Given the description of an element on the screen output the (x, y) to click on. 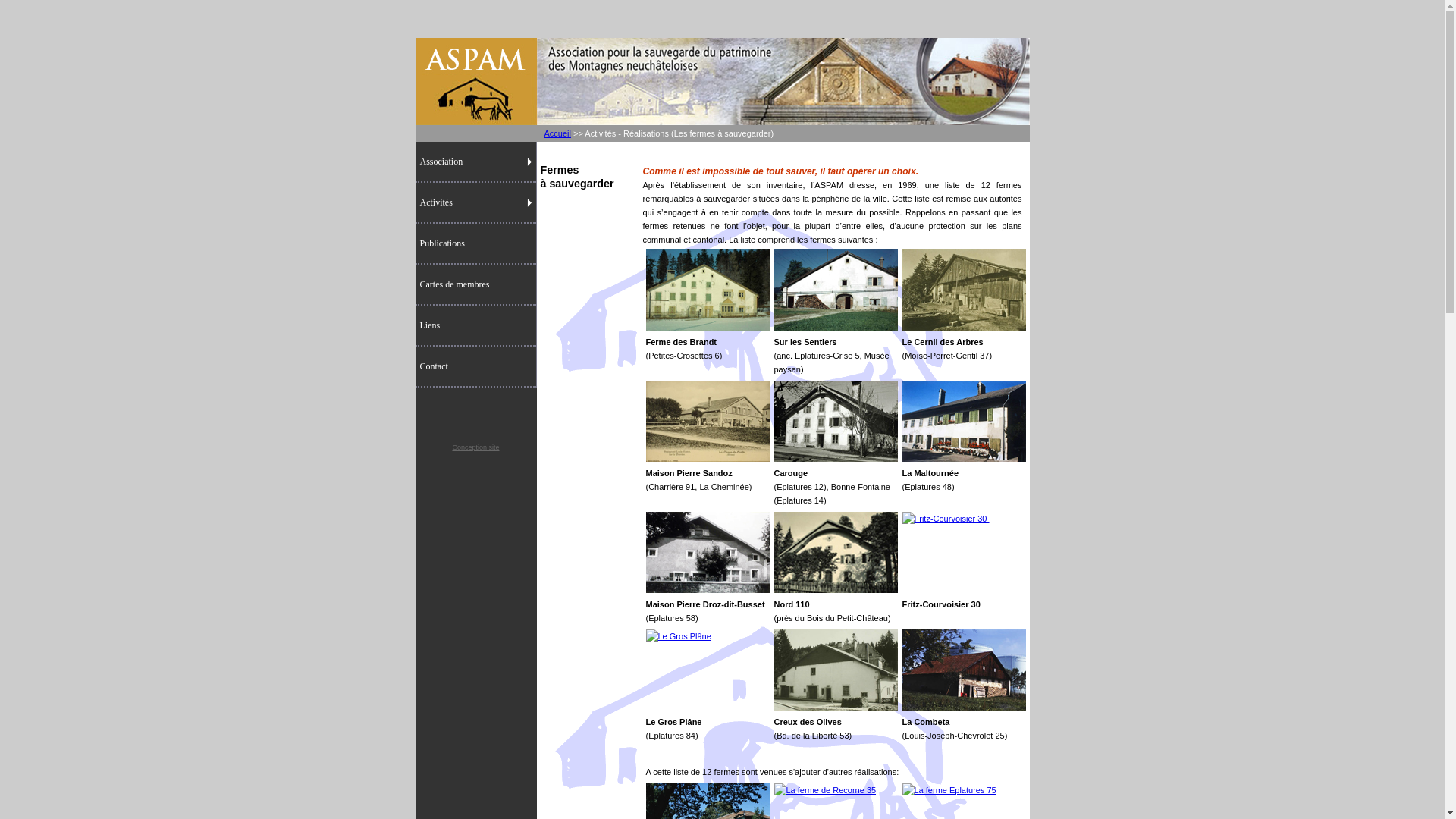
Conception site Element type: text (474, 447)
Accueil Element type: text (557, 133)
Association Element type: text (475, 161)
Cartes de membres Element type: text (475, 284)
Liens Element type: text (475, 325)
Publications Element type: text (475, 243)
Contact Element type: text (475, 366)
